Given the description of an element on the screen output the (x, y) to click on. 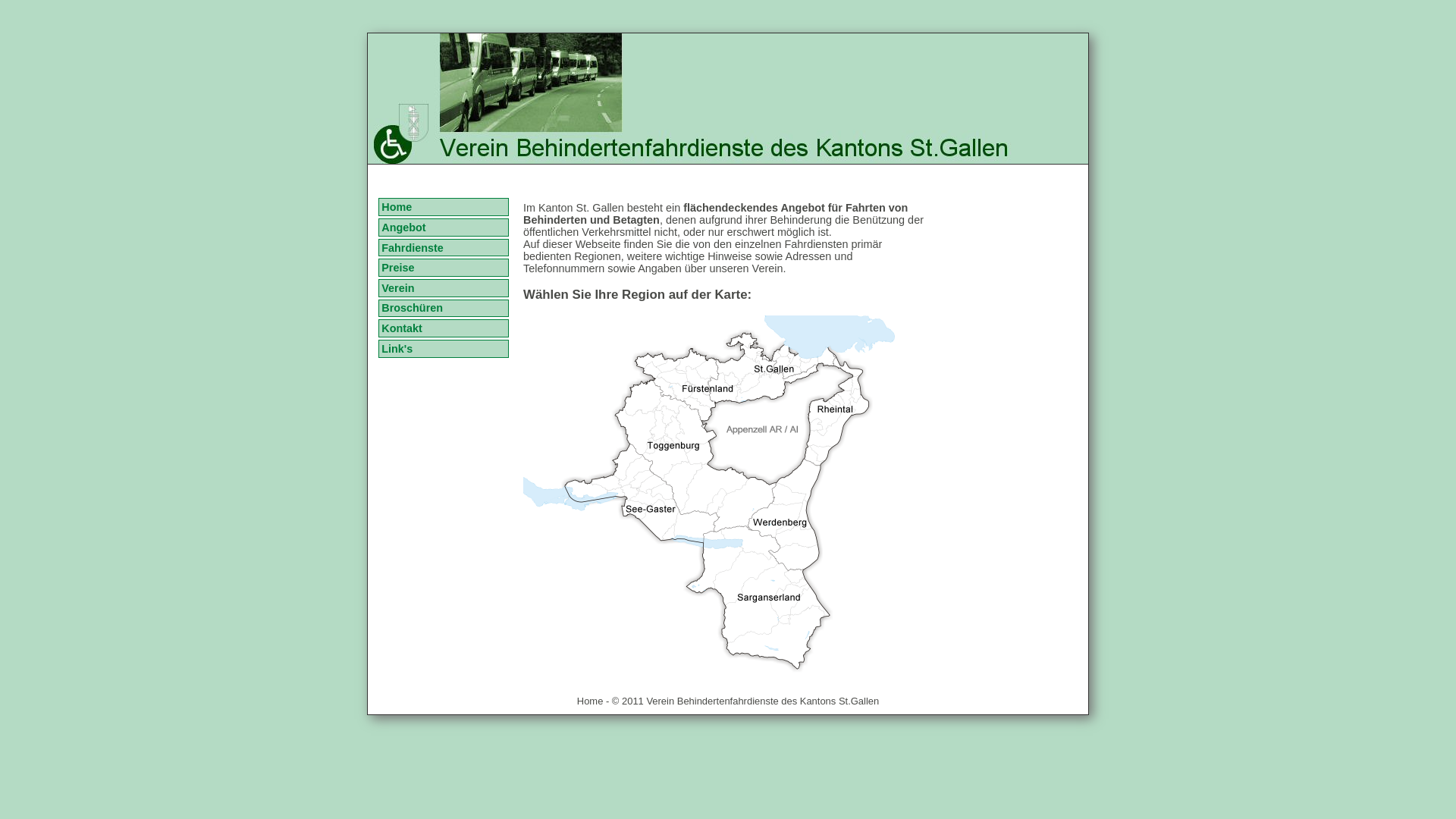
Link's Element type: text (443, 348)
Verein Element type: text (443, 288)
Preise Element type: text (443, 267)
Angebot Element type: text (443, 227)
Kontakt Element type: text (443, 328)
Fahrdienste Element type: text (443, 247)
Home Element type: text (443, 206)
